Given the description of an element on the screen output the (x, y) to click on. 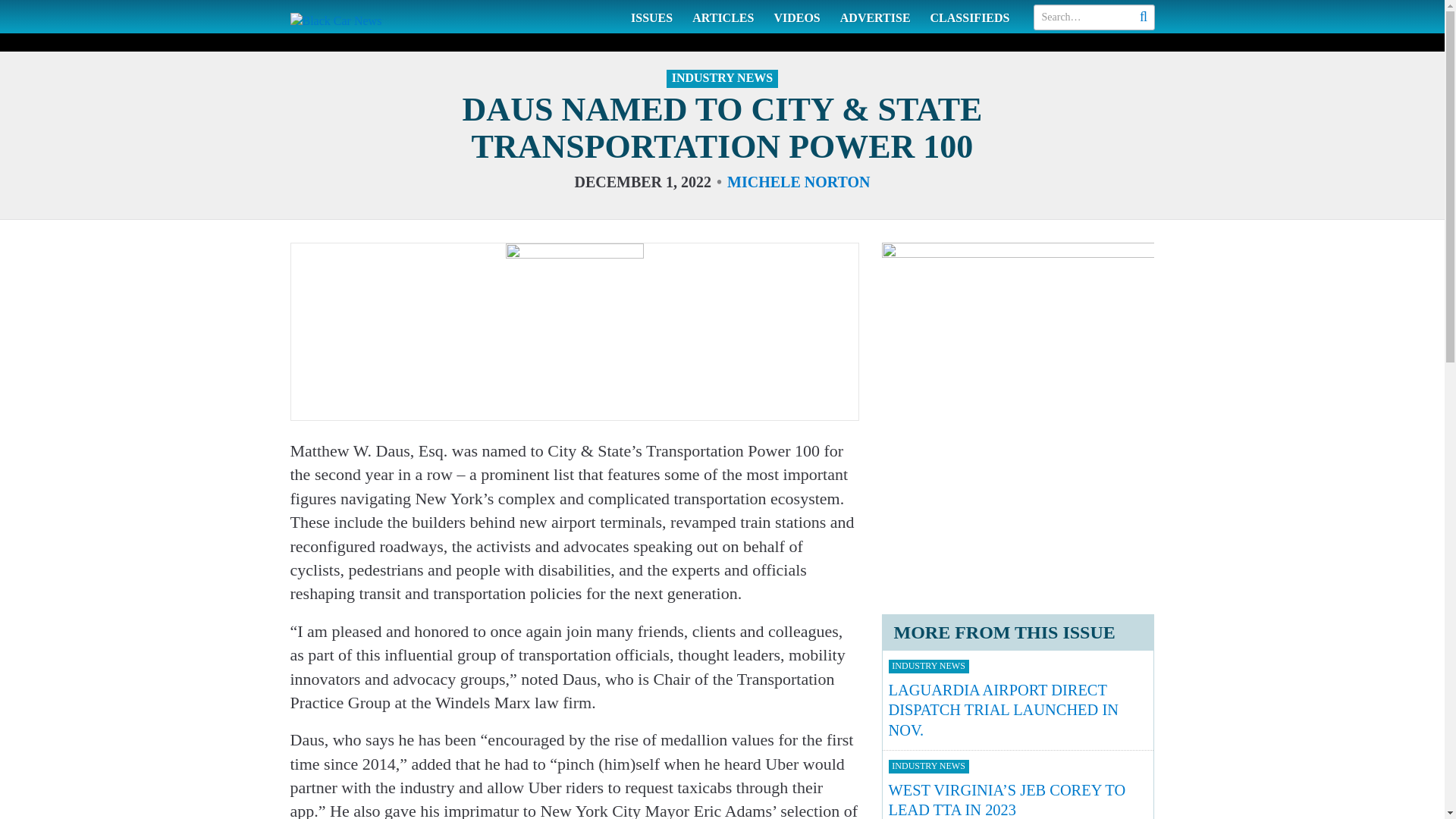
VIDEOS (795, 16)
ADVERTISE (874, 16)
Thursday, December 1st, 2022, 6:04 am (642, 181)
CLASSIFIEDS (970, 16)
ISSUES (651, 16)
INDUSTRY NEWS (721, 78)
MICHELE NORTON (797, 181)
ARTICLES (722, 16)
